Given the description of an element on the screen output the (x, y) to click on. 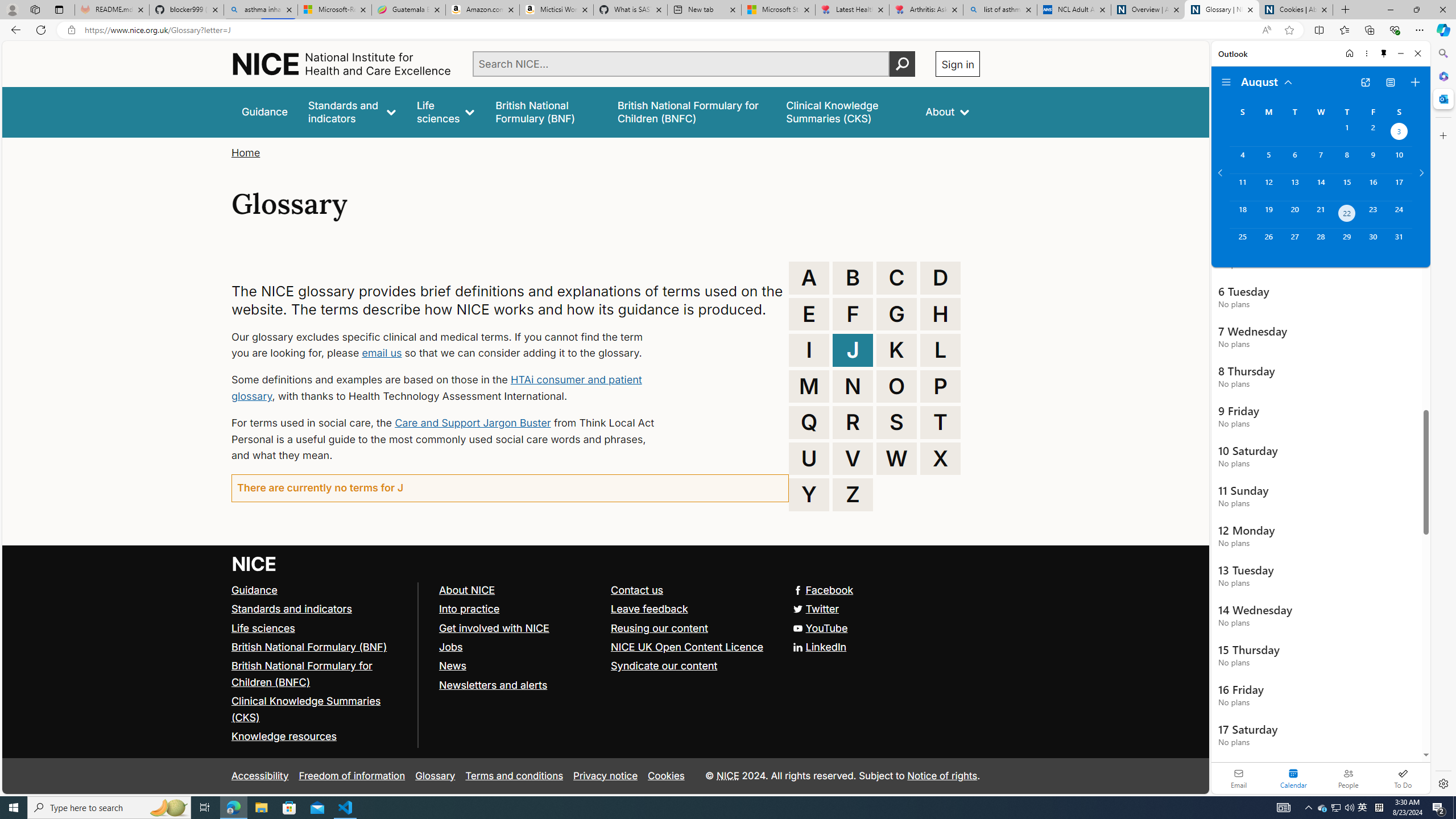
Jobs (518, 647)
Knowledge resources (283, 736)
Into practice (468, 608)
Jobs (450, 646)
Sunday, August 18, 2024.  (1242, 214)
Unpin side pane (1383, 53)
Z (852, 494)
Cookies (665, 775)
August (1267, 80)
K (896, 350)
Wednesday, August 21, 2024.  (1320, 214)
Newsletters and alerts (492, 684)
U (809, 458)
V (852, 458)
